Given the description of an element on the screen output the (x, y) to click on. 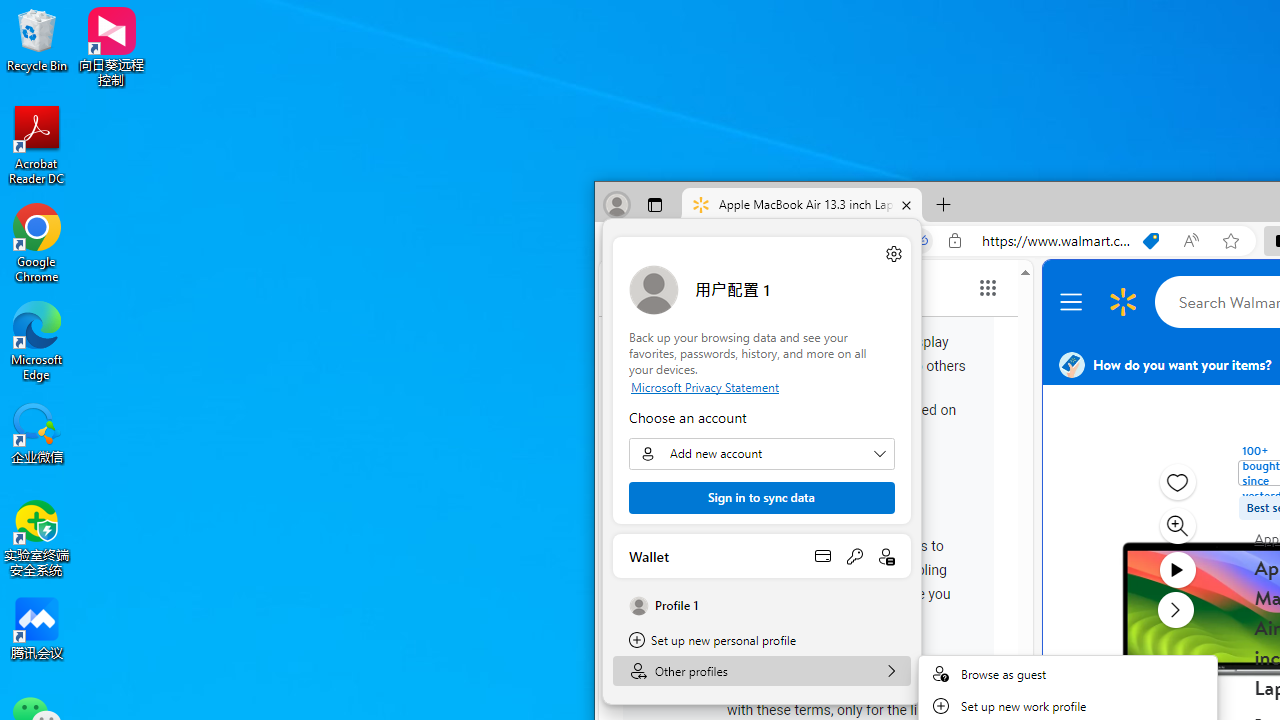
Browse as guest (1068, 673)
Set up new personal profile (762, 639)
Manage profile settings (893, 253)
Menu (1074, 301)
This site has coupons! Shopping in Microsoft Edge, 7 (1151, 241)
